Given the description of an element on the screen output the (x, y) to click on. 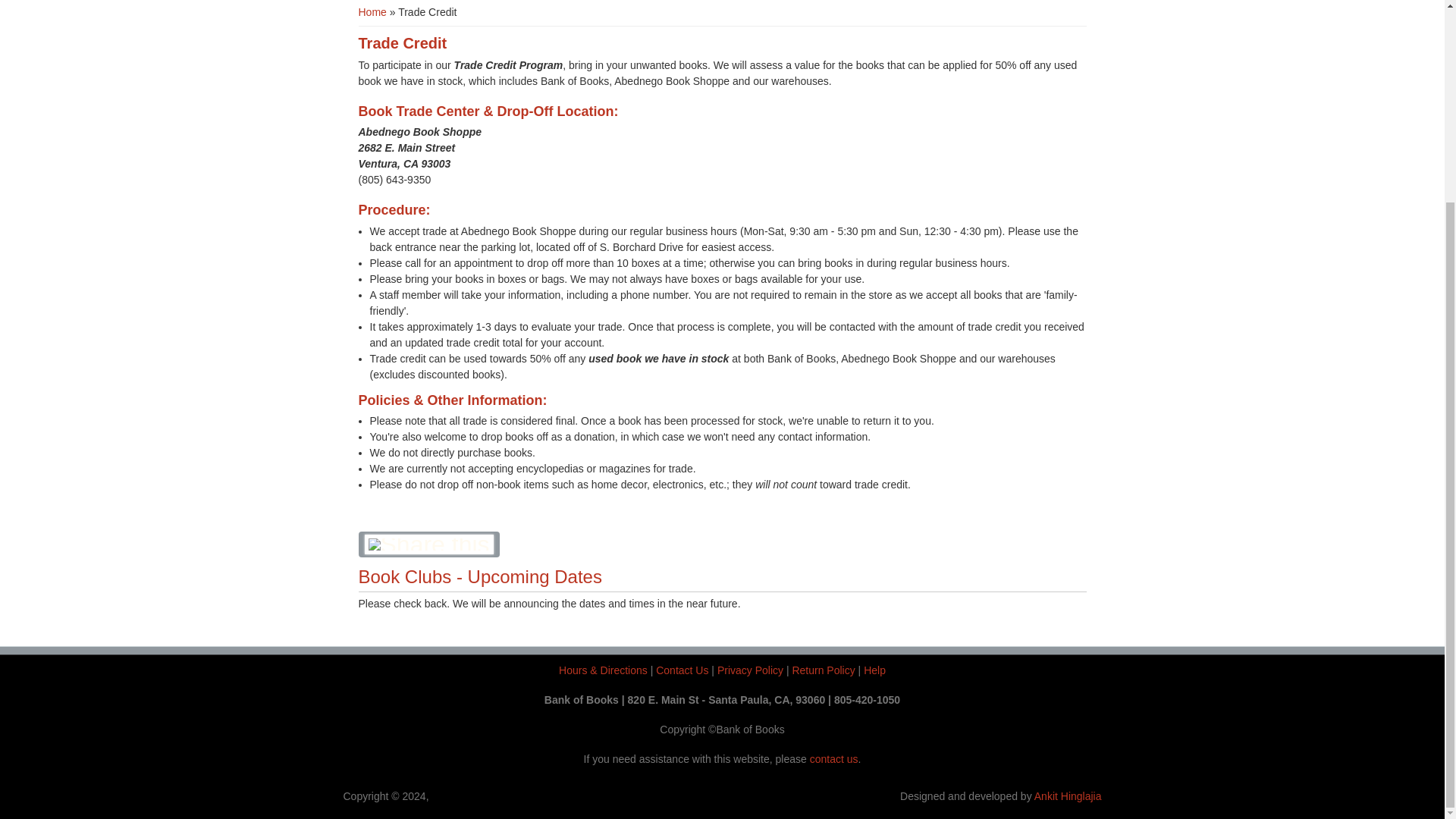
Return Policy (823, 670)
Ankit Hinglajia (1067, 796)
Contact Us (681, 670)
Privacy Policy (750, 670)
Help (874, 670)
contact us (834, 758)
Home (371, 11)
